Given the description of an element on the screen output the (x, y) to click on. 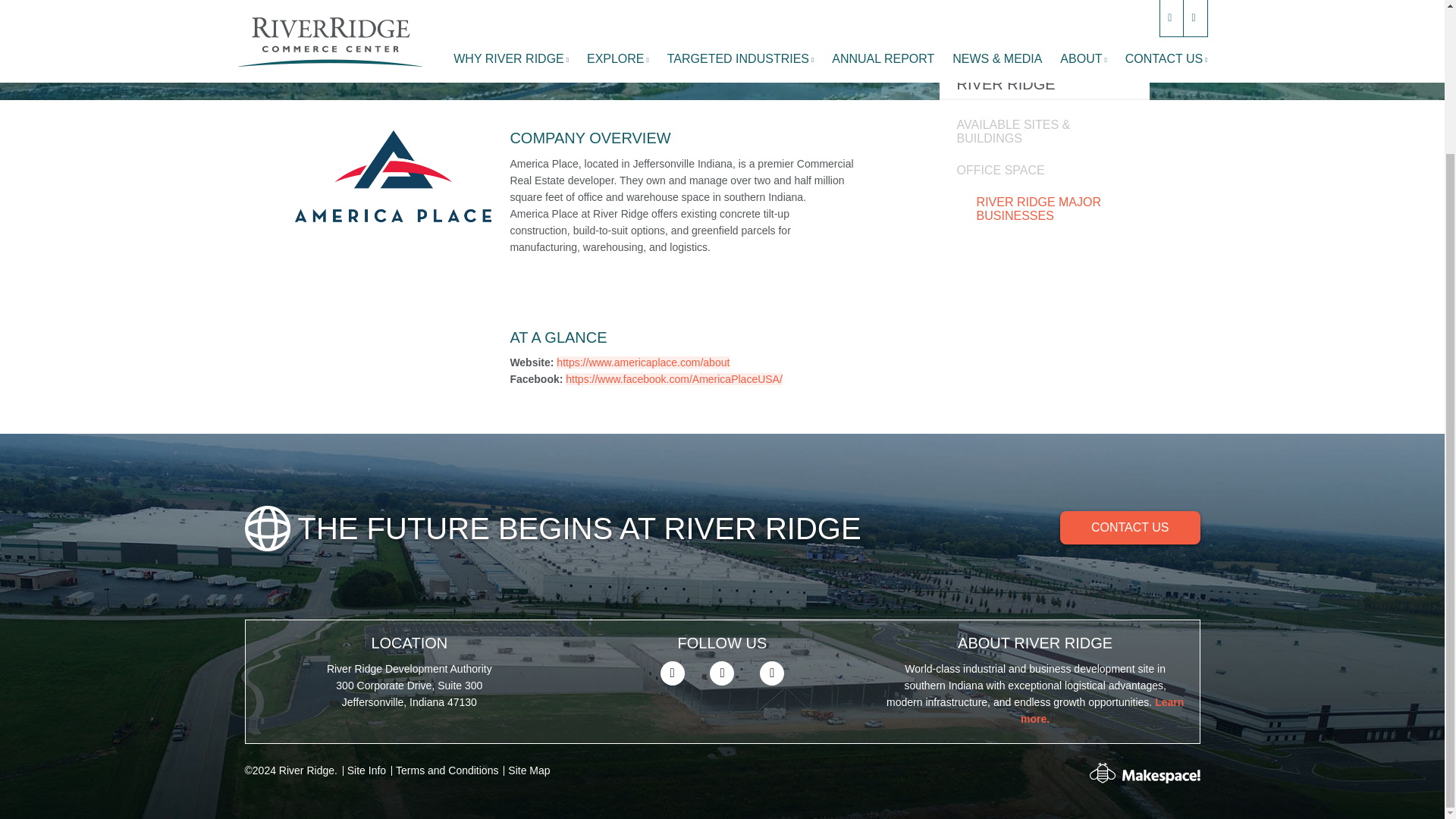
Site Info (366, 770)
Privacy Policy (446, 770)
Louisville Web Design (1160, 776)
Louisville Web Design (1102, 772)
Site Map (529, 770)
